Given the description of an element on the screen output the (x, y) to click on. 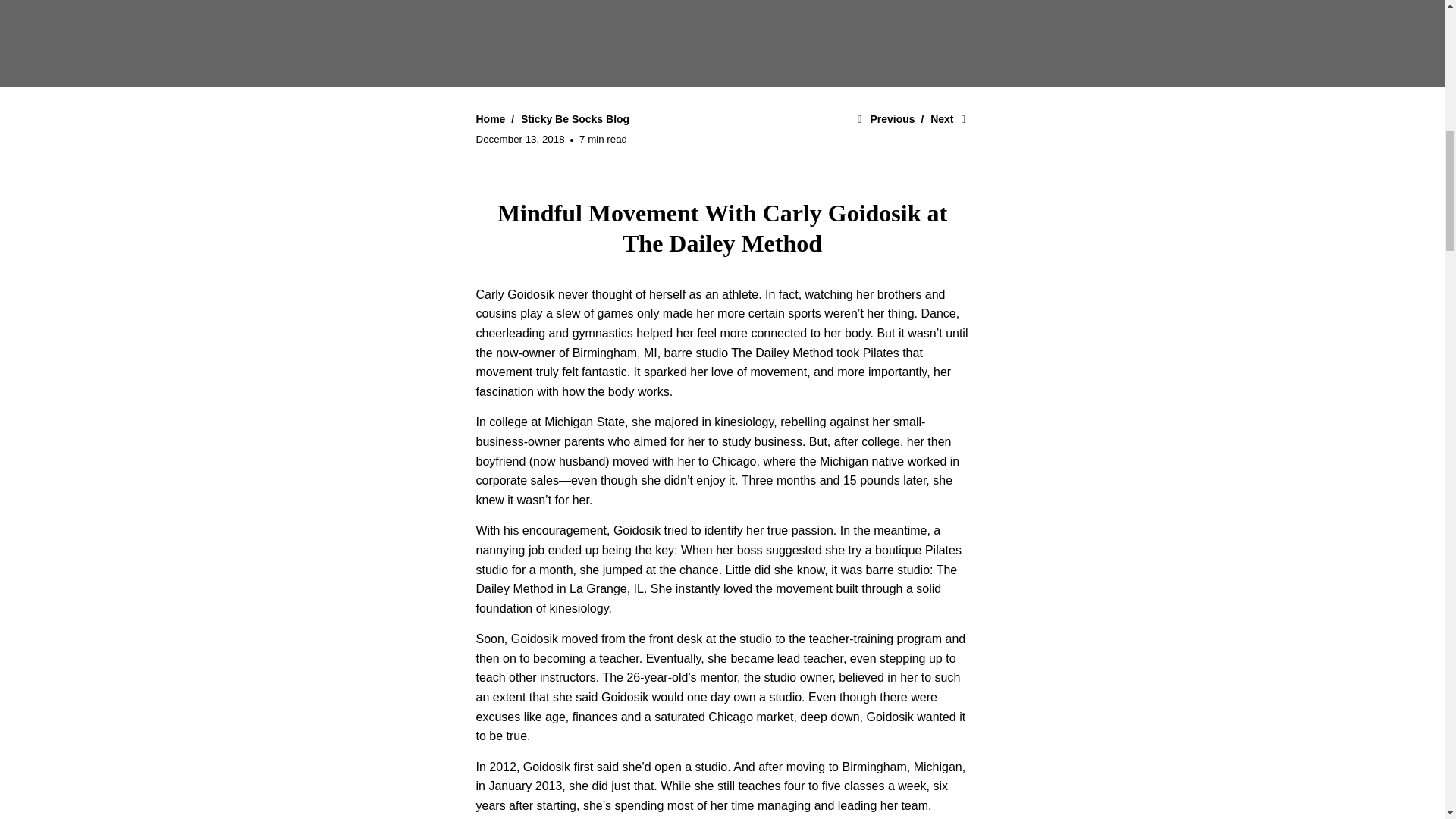
Sticky Be Socks (492, 119)
Sticky Be Socks Blog (574, 119)
